Given the description of an element on the screen output the (x, y) to click on. 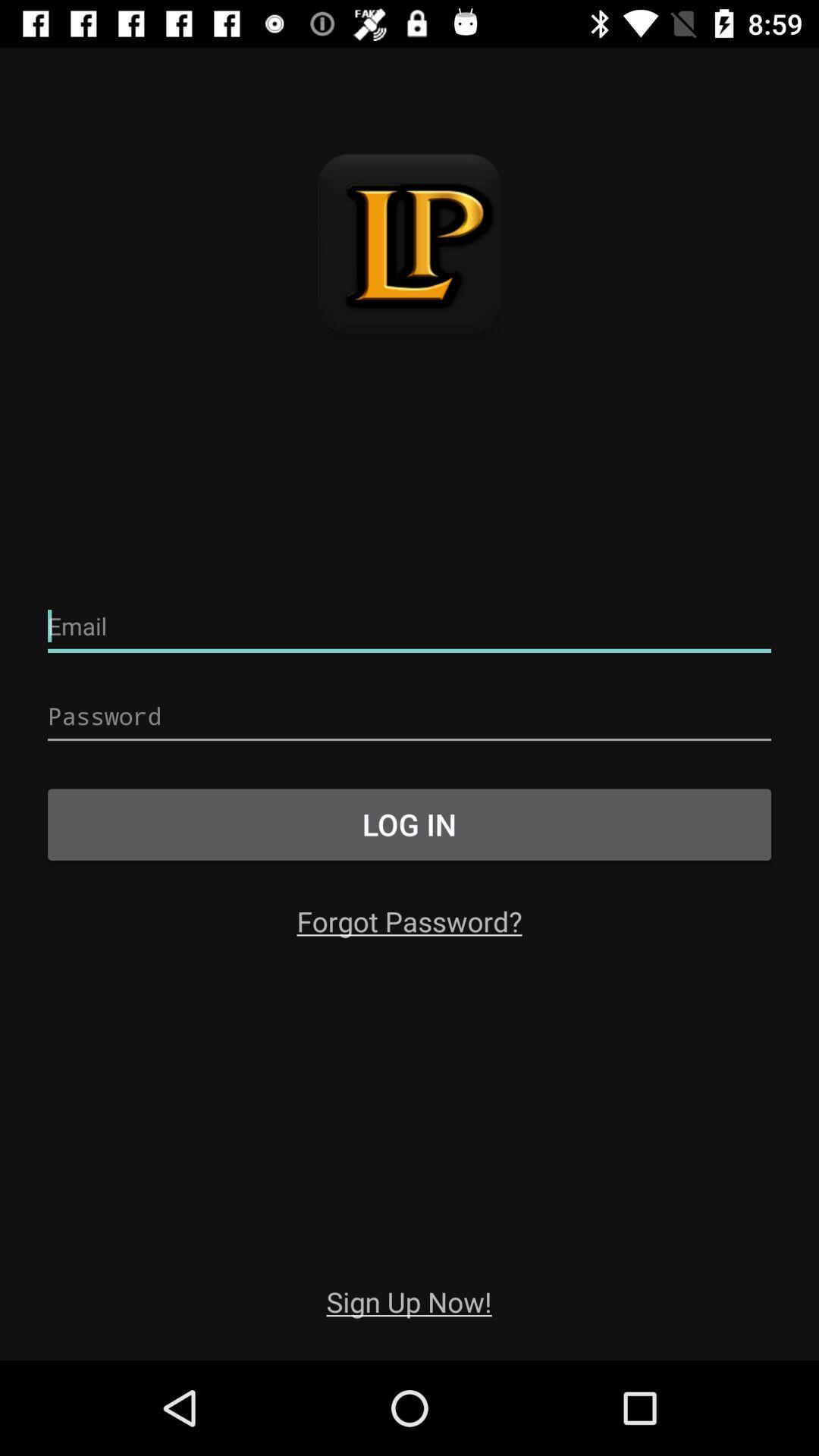
open app below forgot password? (408, 1301)
